Given the description of an element on the screen output the (x, y) to click on. 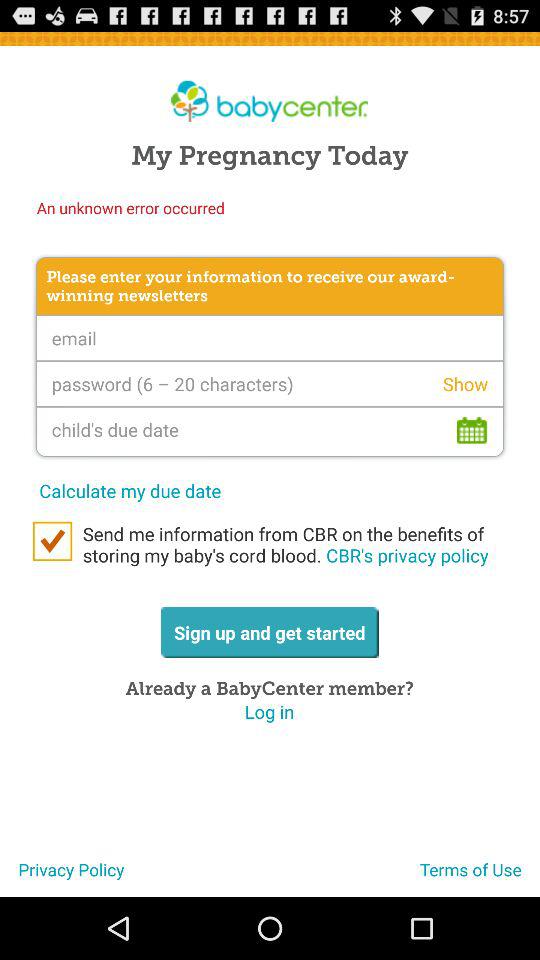
launch the icon to the left of send me information app (52, 541)
